Given the description of an element on the screen output the (x, y) to click on. 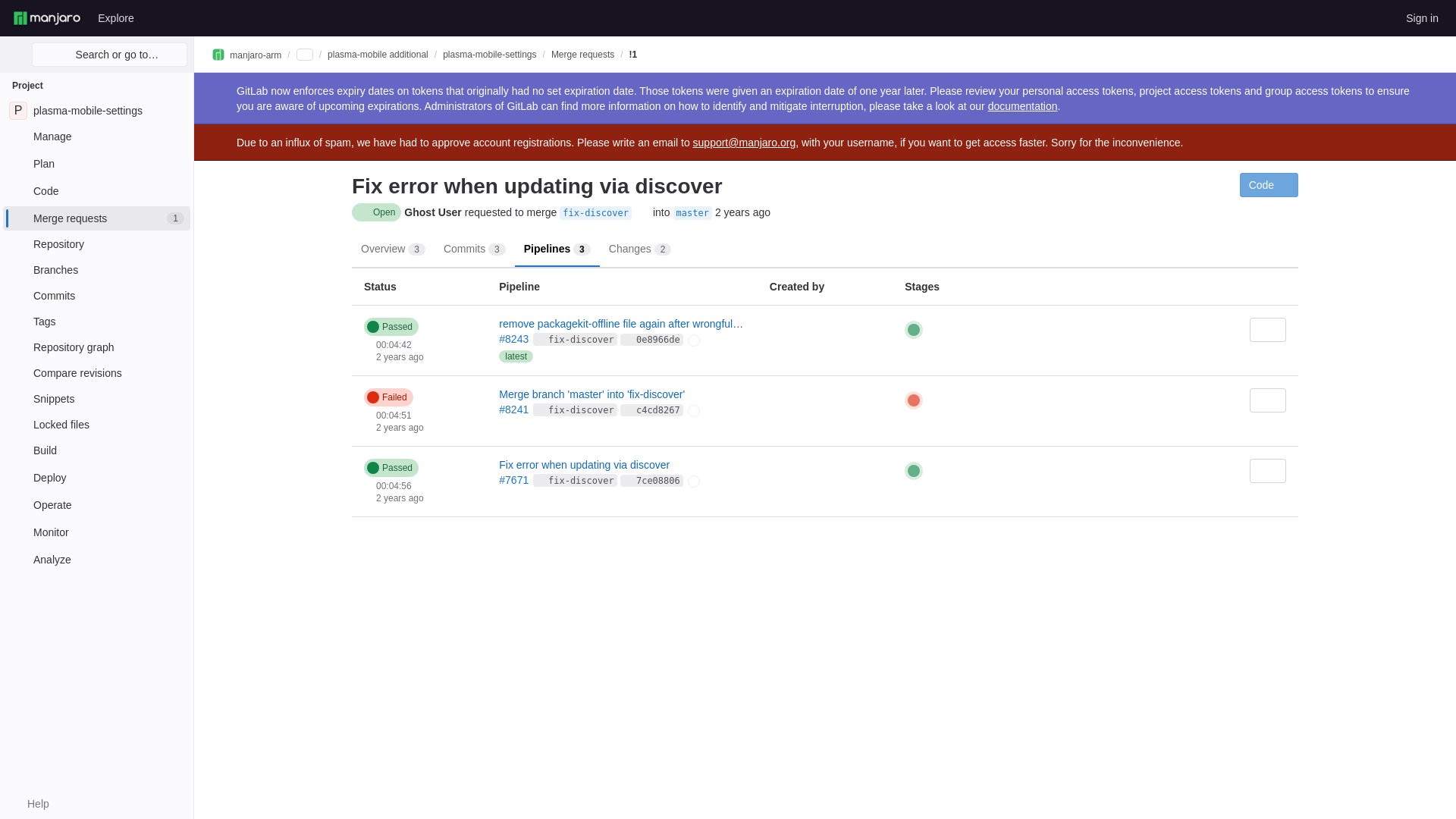
master (96, 110)
Snippets (691, 213)
Deploy (96, 398)
Build (96, 477)
Commits (96, 450)
Repository graph (96, 295)
Sign in (96, 346)
Locked files (1421, 17)
Operate (96, 424)
